Given the description of an element on the screen output the (x, y) to click on. 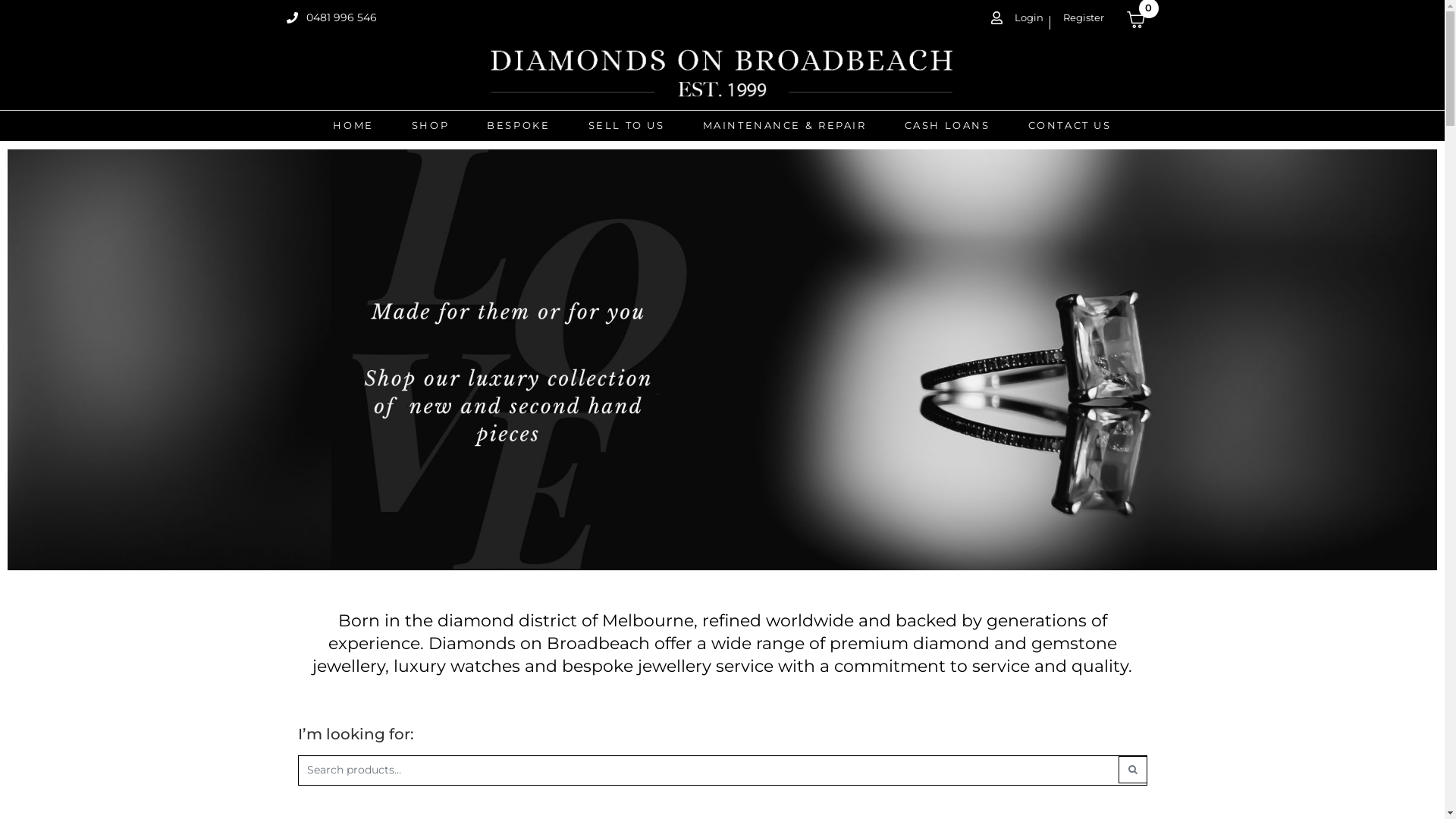
CONTACT US Element type: text (1069, 125)
CASH LOANS Element type: text (946, 125)
MAINTENANCE & REPAIR Element type: text (784, 125)
SELL TO US Element type: text (626, 125)
Register Element type: text (1079, 17)
Login Element type: text (1016, 17)
HOME Element type: text (352, 125)
BESPOKE Element type: text (517, 125)
0481 996 546 Element type: text (331, 17)
0 Element type: text (1142, 21)
Search Element type: text (1131, 769)
SHOP Element type: text (429, 125)
